Given the description of an element on the screen output the (x, y) to click on. 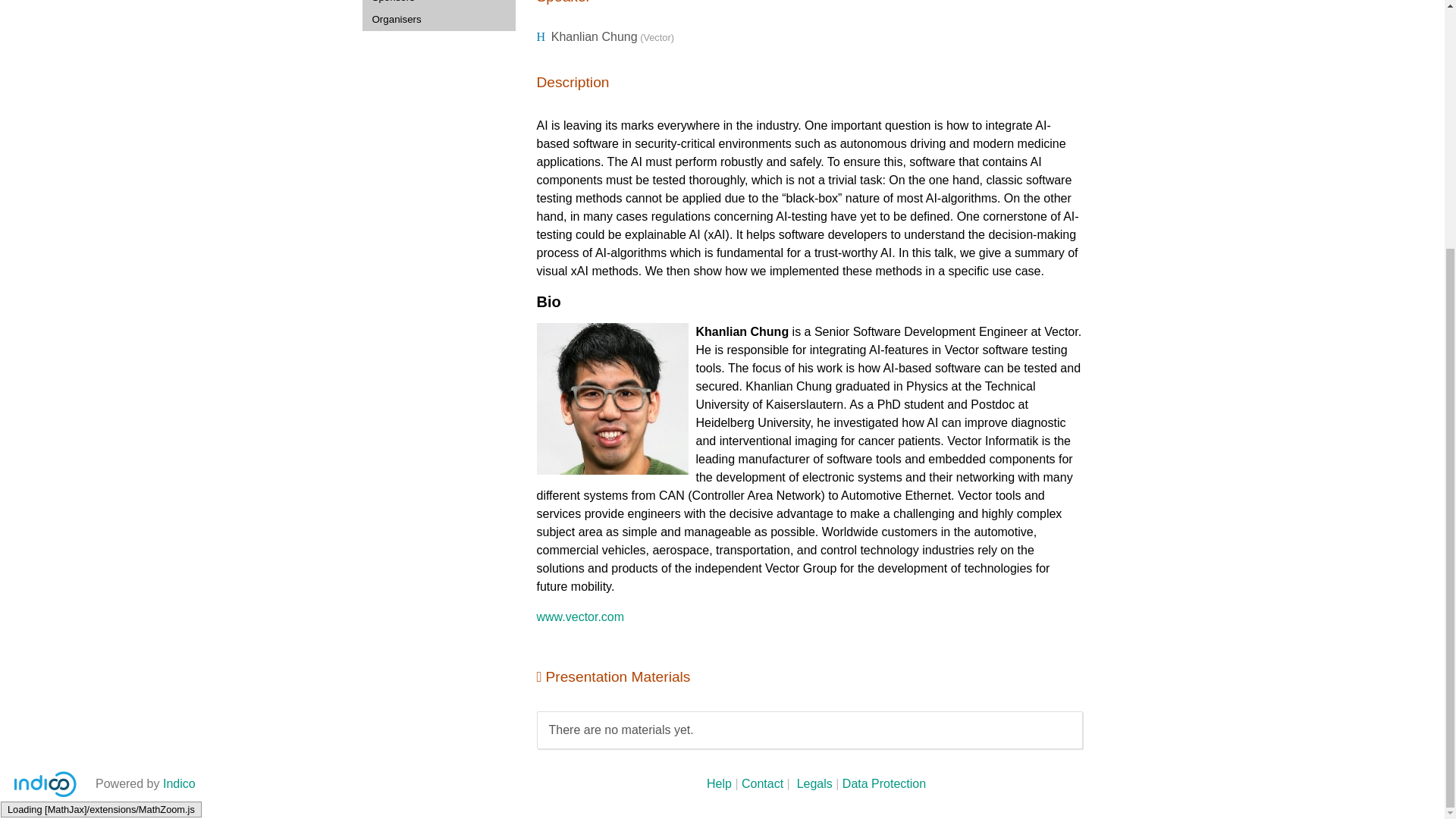
Organisers (437, 19)
Sponsors (437, 4)
www.vector.com (580, 616)
